Given the description of an element on the screen output the (x, y) to click on. 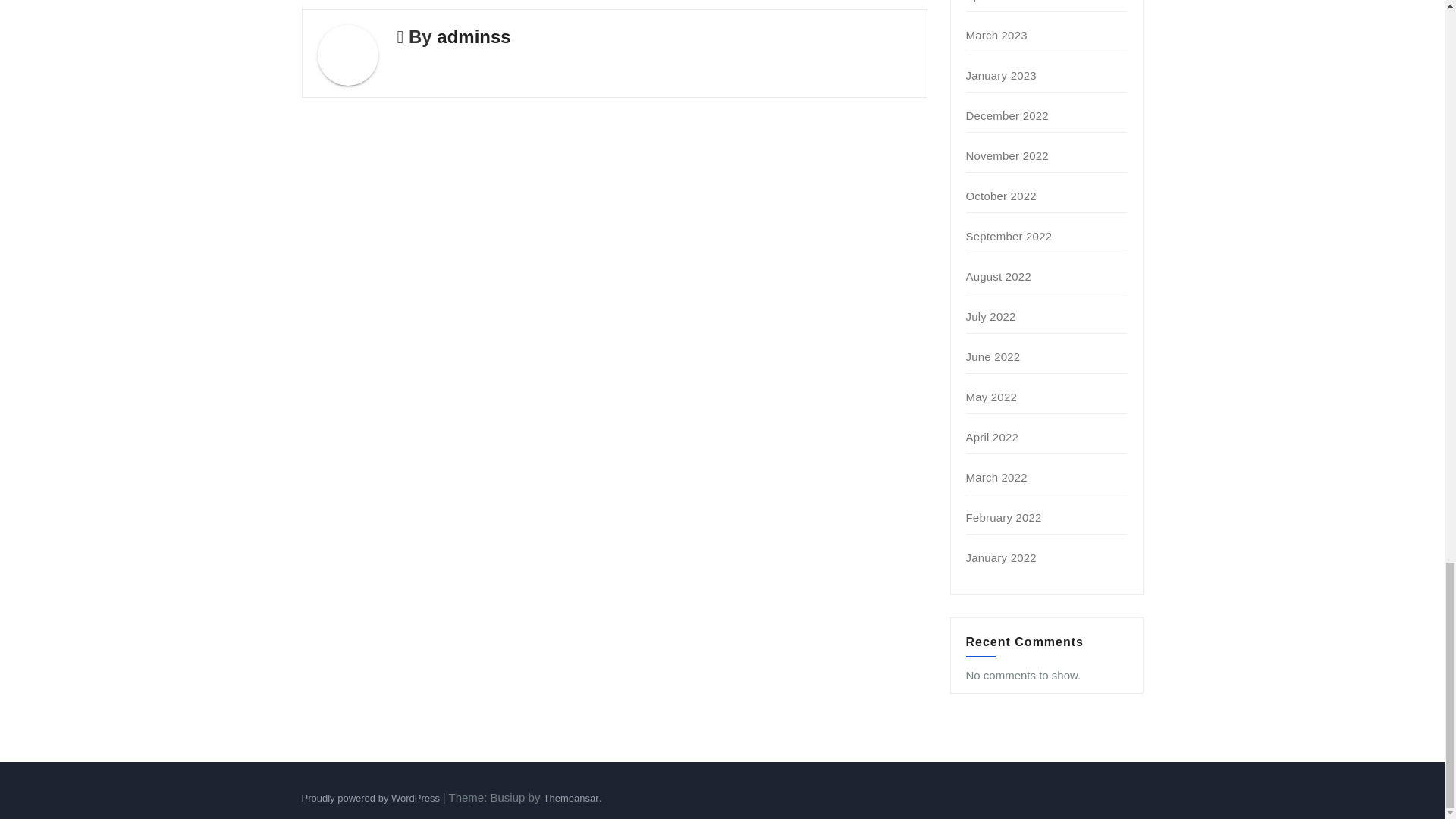
March 2023 (996, 34)
adminss (473, 36)
April 2023 (992, 0)
